Given the description of an element on the screen output the (x, y) to click on. 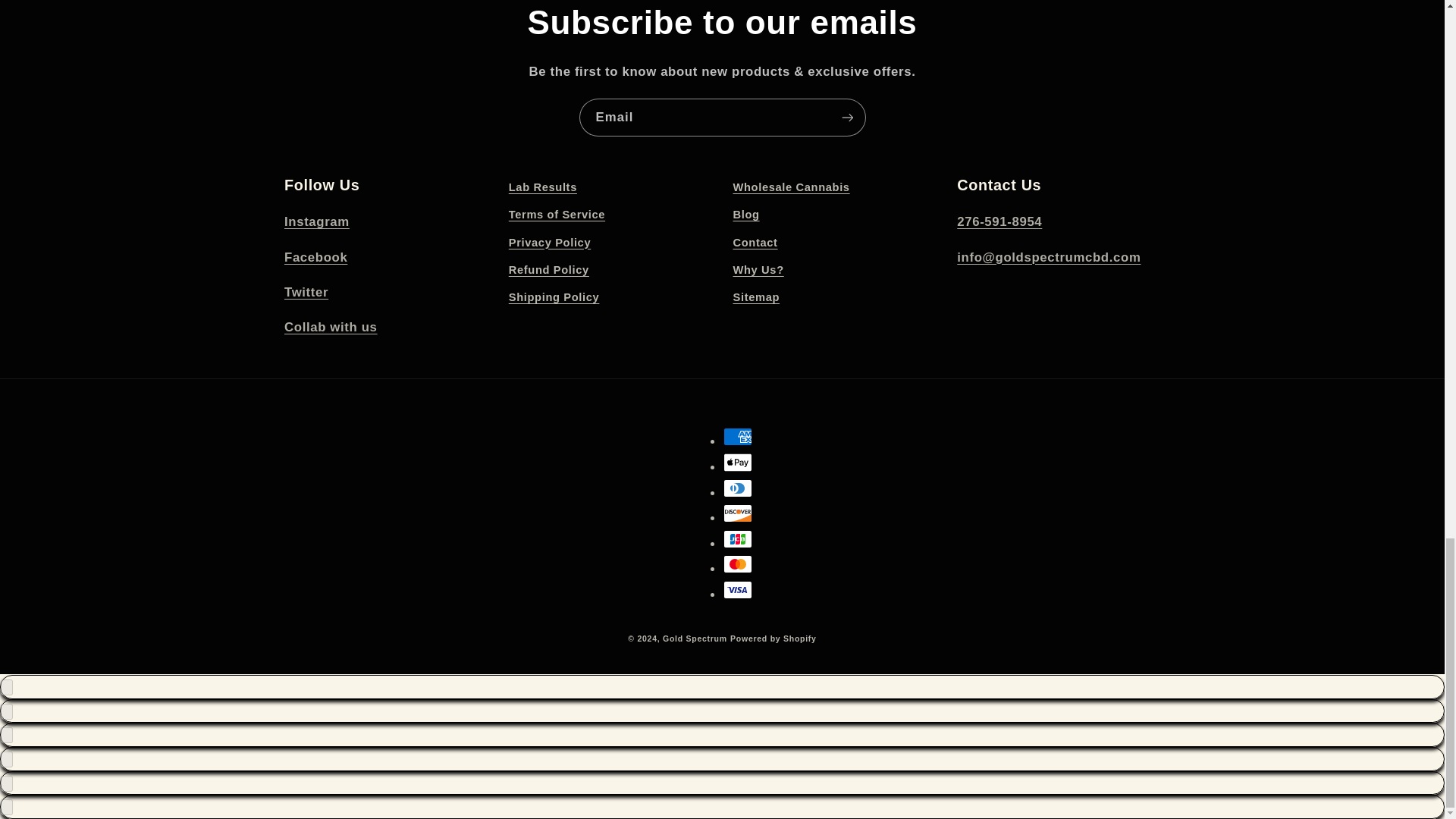
phone number (999, 221)
Apple Pay (737, 462)
Visa (737, 589)
Discover (737, 513)
JCB (737, 538)
American Express (737, 436)
Mastercard (737, 564)
Diners Club (737, 488)
